Given the description of an element on the screen output the (x, y) to click on. 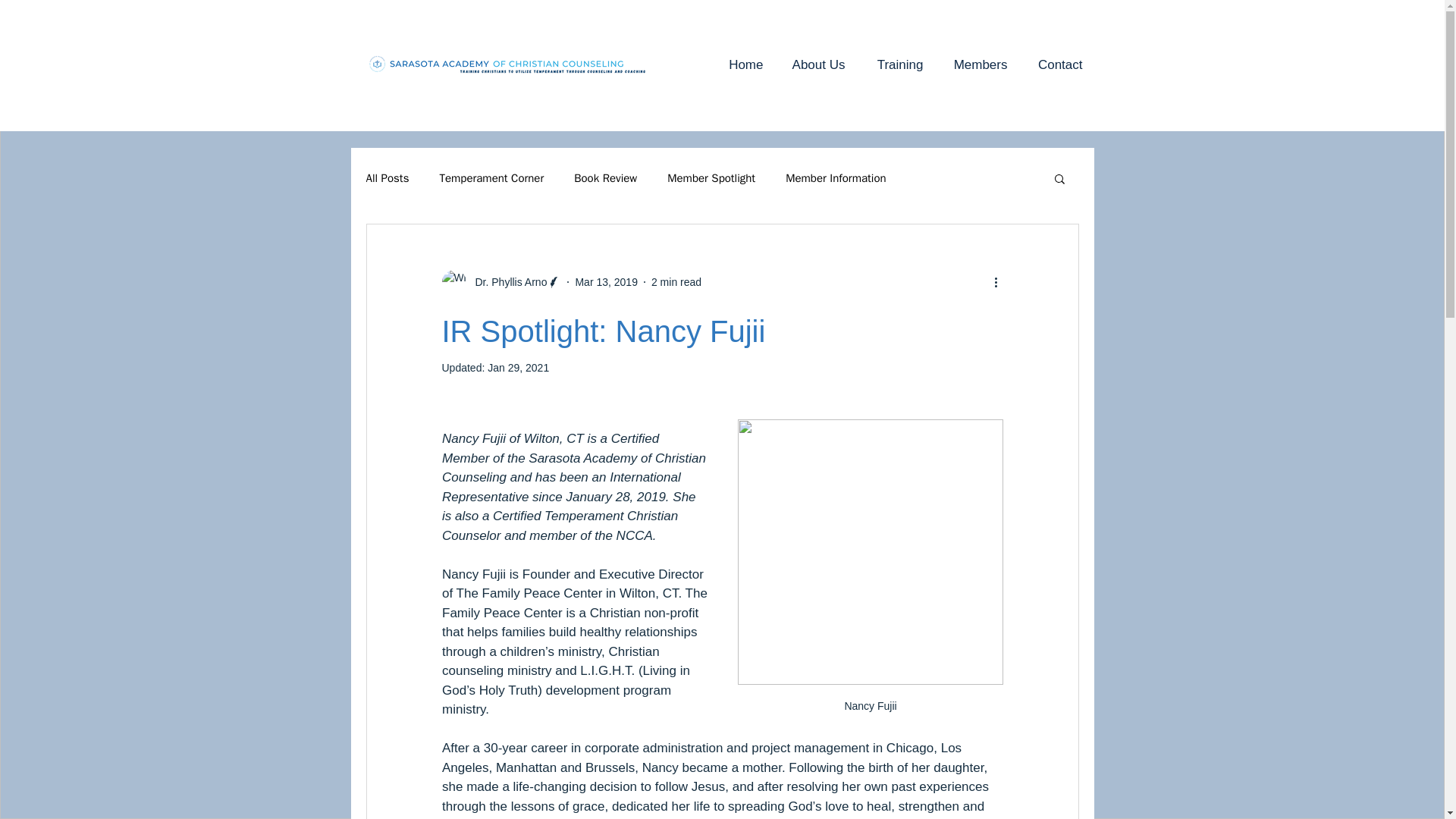
Training (895, 64)
Jan 29, 2021 (517, 367)
Home (742, 64)
All Posts (387, 178)
Dr. Phyllis Arno (506, 282)
Book Review (605, 178)
Contact (1056, 64)
Member Spotlight (710, 178)
Temperament Corner (491, 178)
Member Information (835, 178)
